Given the description of an element on the screen output the (x, y) to click on. 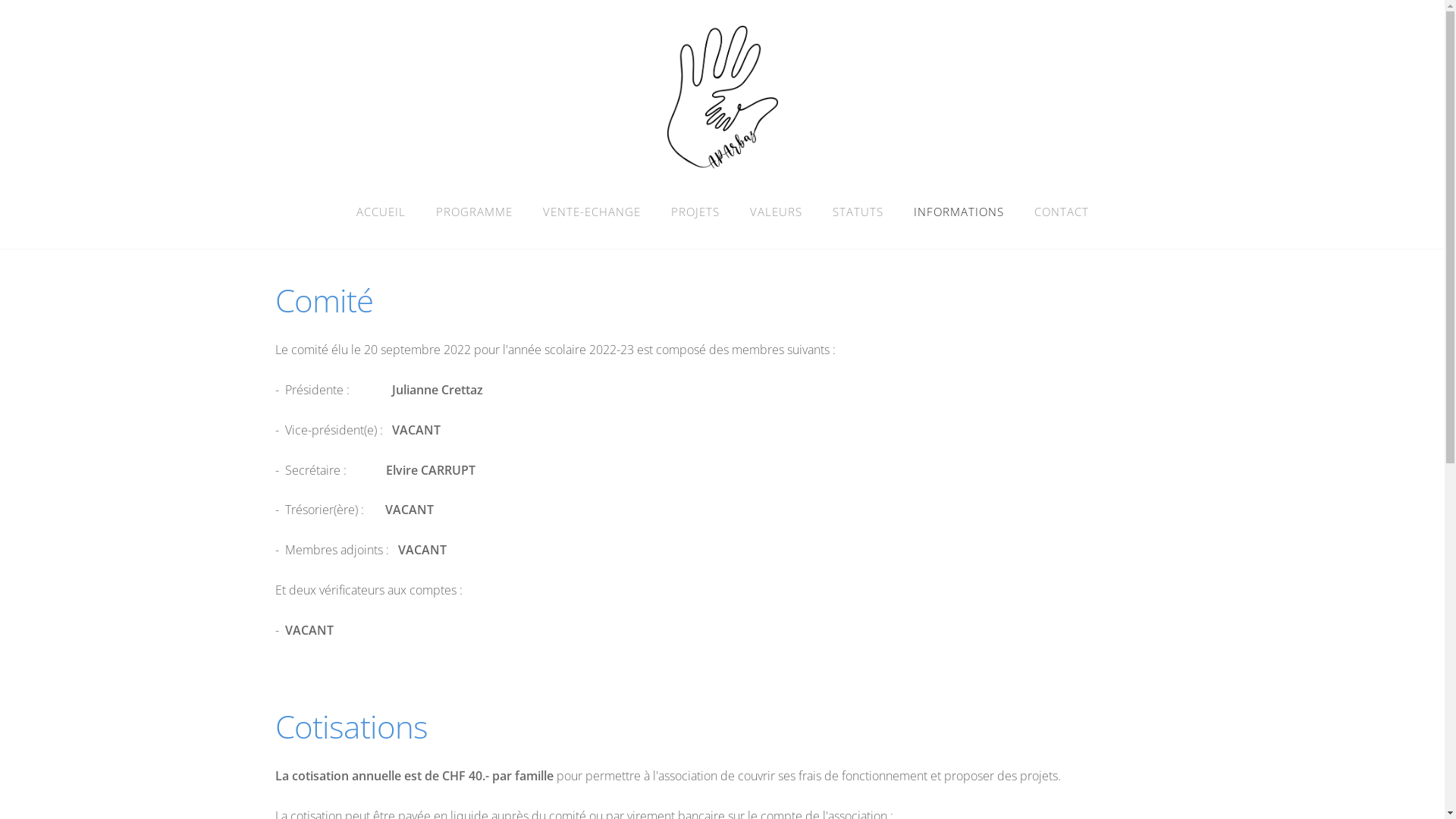
PROGRAMME Element type: text (473, 211)
INFORMATIONS Element type: text (957, 211)
ACCUEIL Element type: text (380, 211)
PROJETS Element type: text (694, 211)
VALEURS Element type: text (775, 211)
VENTE-ECHANGE Element type: text (591, 211)
CONTACT Element type: text (1061, 211)
STATUTS Element type: text (858, 211)
